Given the description of an element on the screen output the (x, y) to click on. 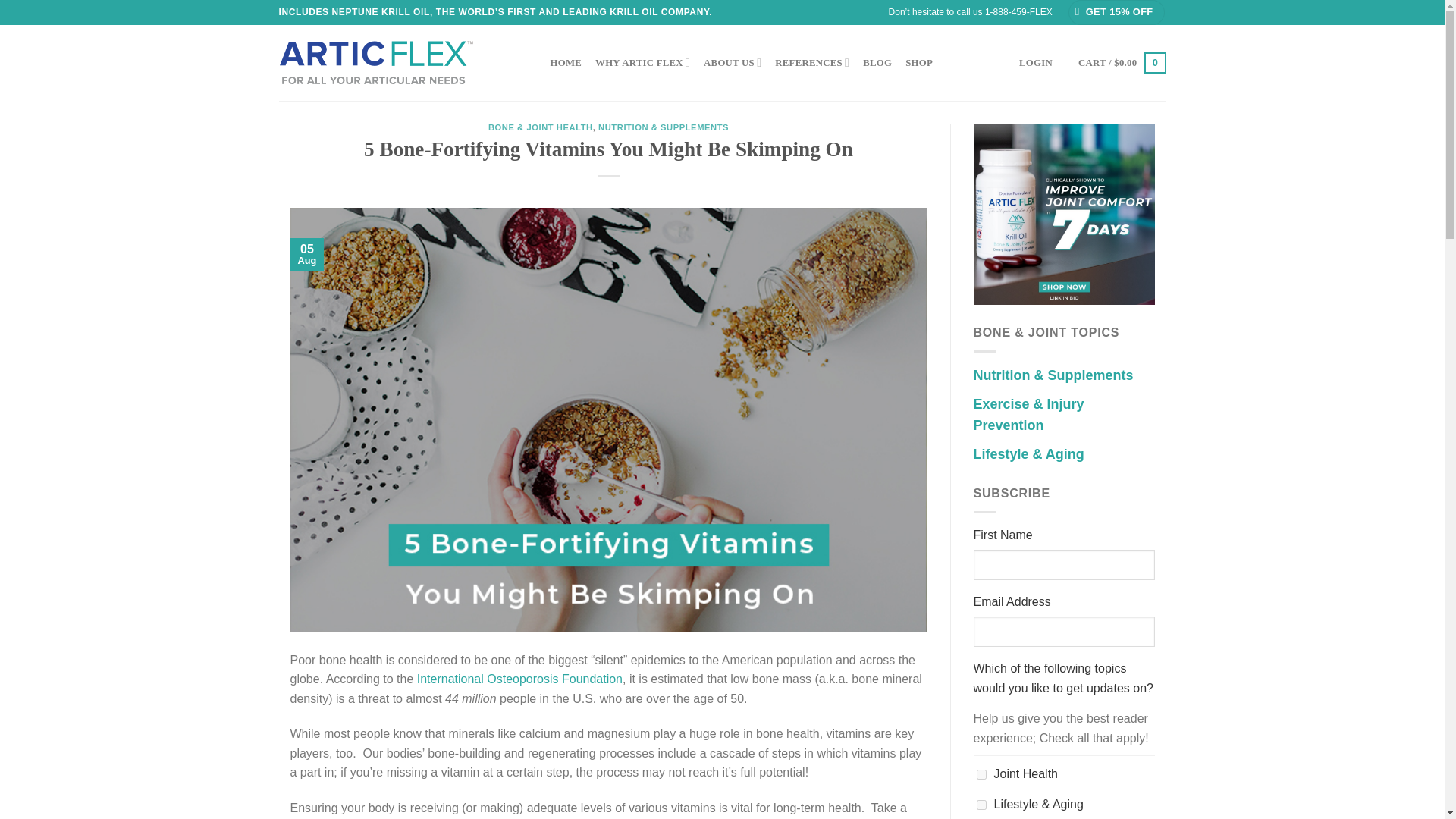
HOME (566, 62)
WHY ARTIC FLEX (642, 61)
LOGIN (1035, 62)
Cart (1122, 62)
BLOG (877, 62)
Yes (981, 774)
Yes (981, 804)
Artic Flex (376, 62)
REFERENCES (811, 61)
Sign up for Newsletter (1116, 12)
